Given the description of an element on the screen output the (x, y) to click on. 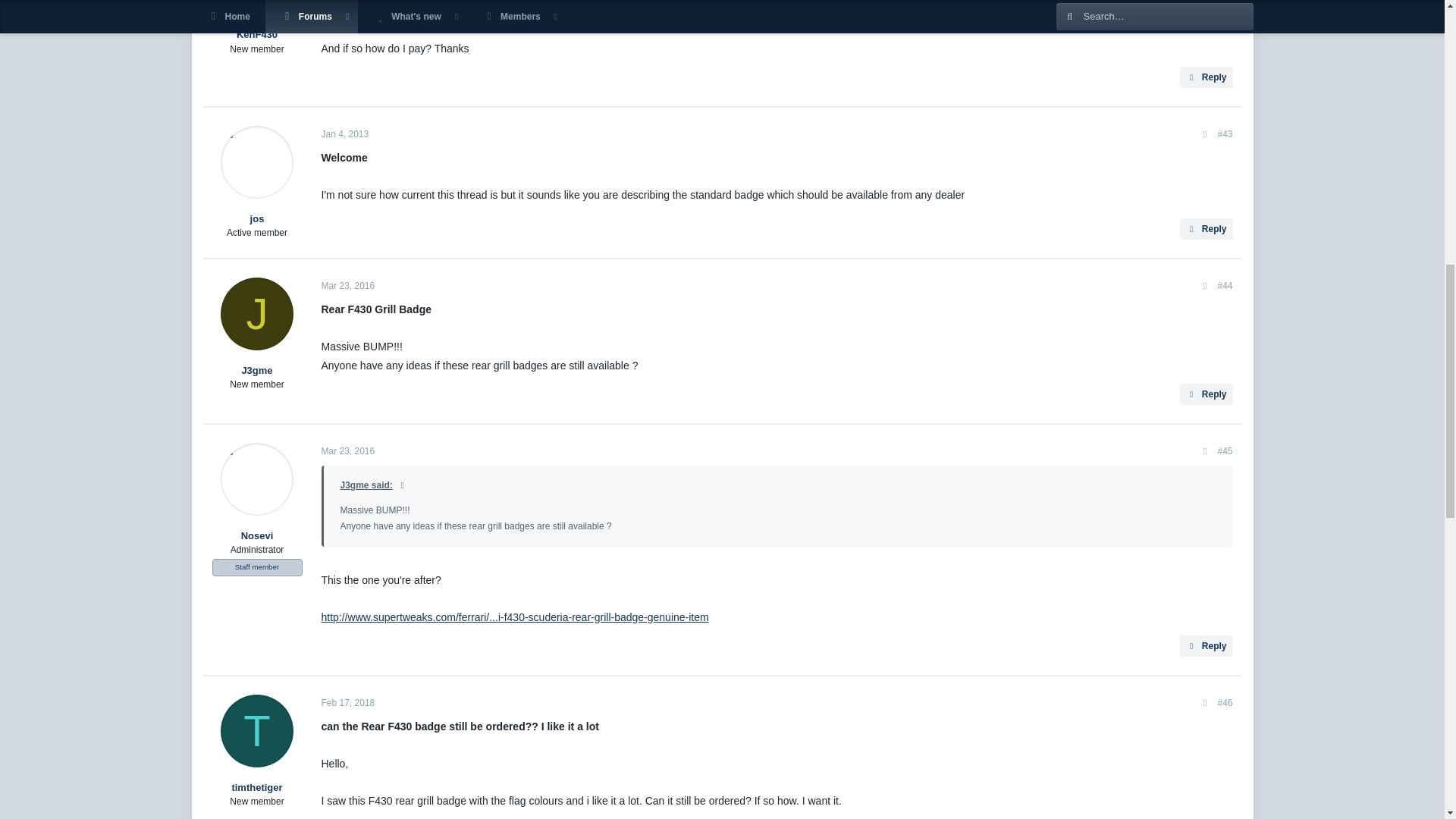
Reply, quoting this message (1206, 76)
Reply, quoting this message (1206, 394)
Jan 4, 2013 at 9:41 AM (345, 133)
Mar 23, 2016 at 3:34 PM (348, 285)
Reply, quoting this message (1206, 228)
